Given the description of an element on the screen output the (x, y) to click on. 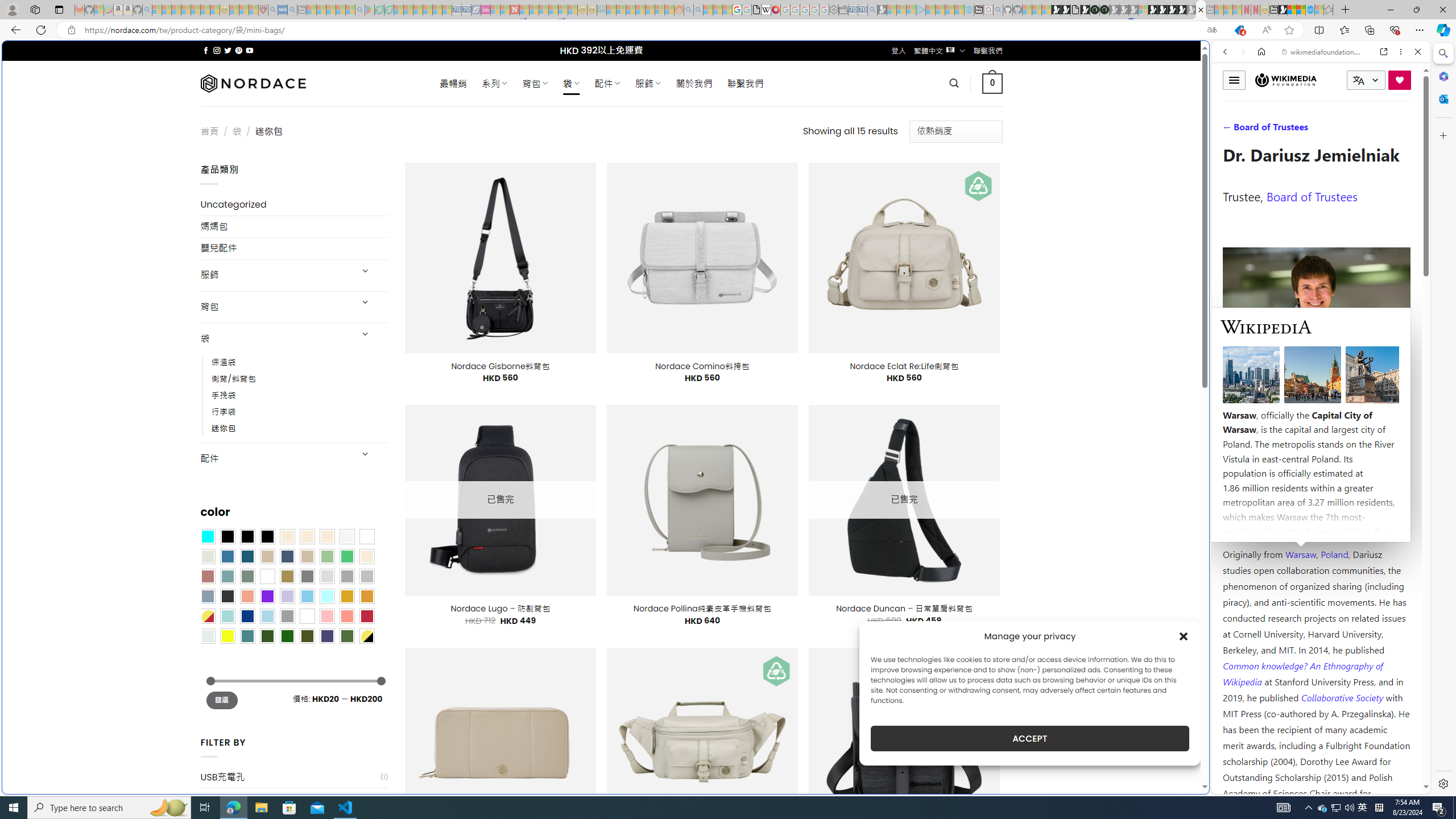
Follow on Facebook (205, 50)
Uncategorized (294, 204)
CURRENT LANGUAGE: (1366, 80)
Wikimedia Foundation (1285, 79)
Microsoft Start - Sleeping (949, 9)
Recipes - MSN - Sleeping (234, 9)
Forward (1242, 51)
